Given the description of an element on the screen output the (x, y) to click on. 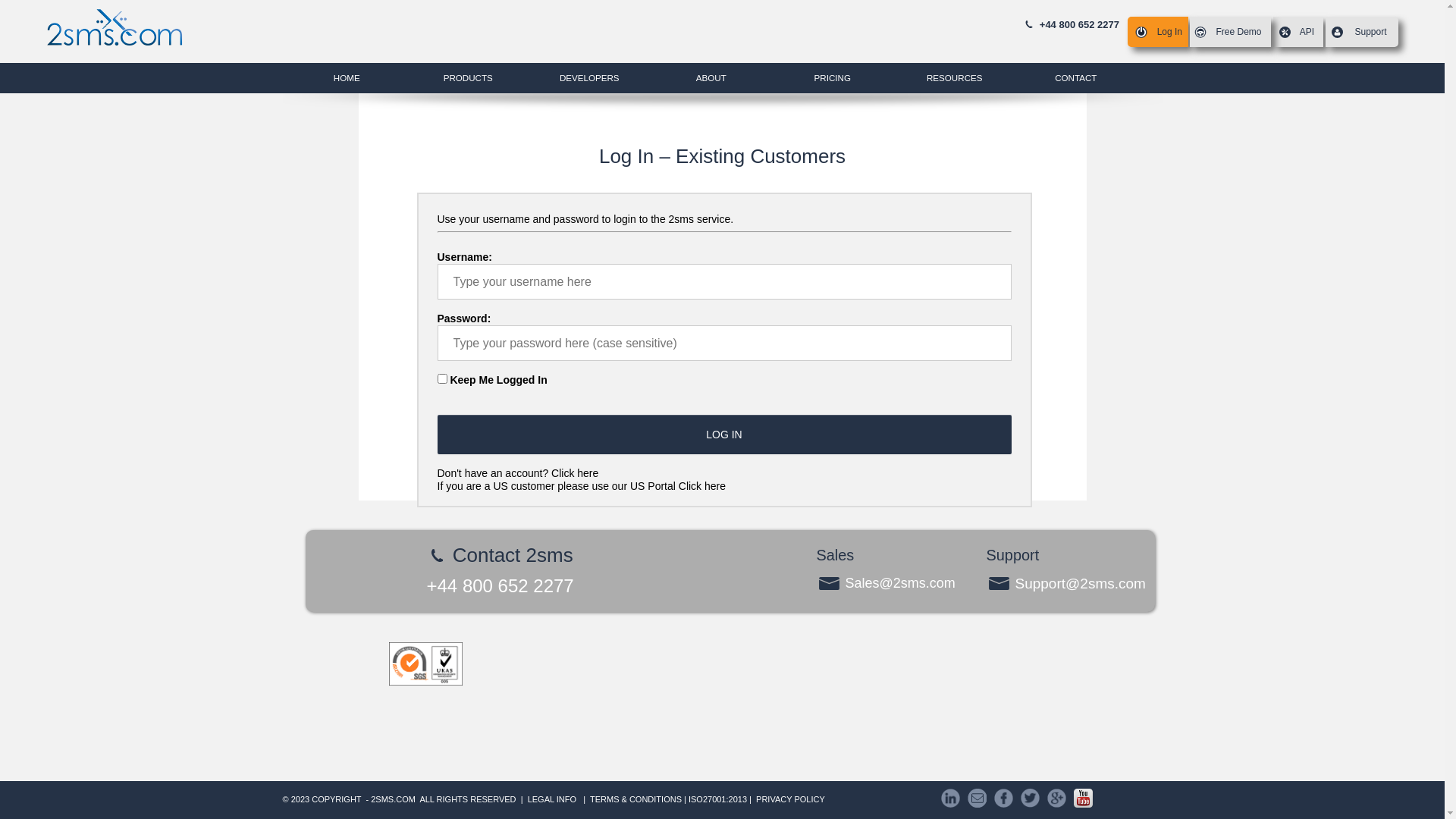
Click here Element type: text (574, 473)
Click here Element type: text (701, 486)
DEVELOPERS Element type: text (589, 77)
CONTACT Element type: text (1075, 77)
PRIVACY POLICY Element type: text (790, 798)
LEGAL INFO Element type: text (551, 798)
ISO27001:2013 Element type: text (717, 798)
RESOURCES Element type: text (954, 77)
PRICING Element type: text (831, 77)
Sales@2sms.com Element type: text (893, 585)
Support@2sms.com Element type: text (1069, 585)
HOME Element type: text (346, 77)
Log In Element type: text (1157, 31)
PRODUCTS Element type: text (467, 77)
API Element type: text (1298, 31)
Free Demo Element type: text (1229, 31)
ABOUT Element type: text (710, 77)
TERMS & CONDITIONS Element type: text (636, 798)
Support Element type: text (1361, 31)
